Given the description of an element on the screen output the (x, y) to click on. 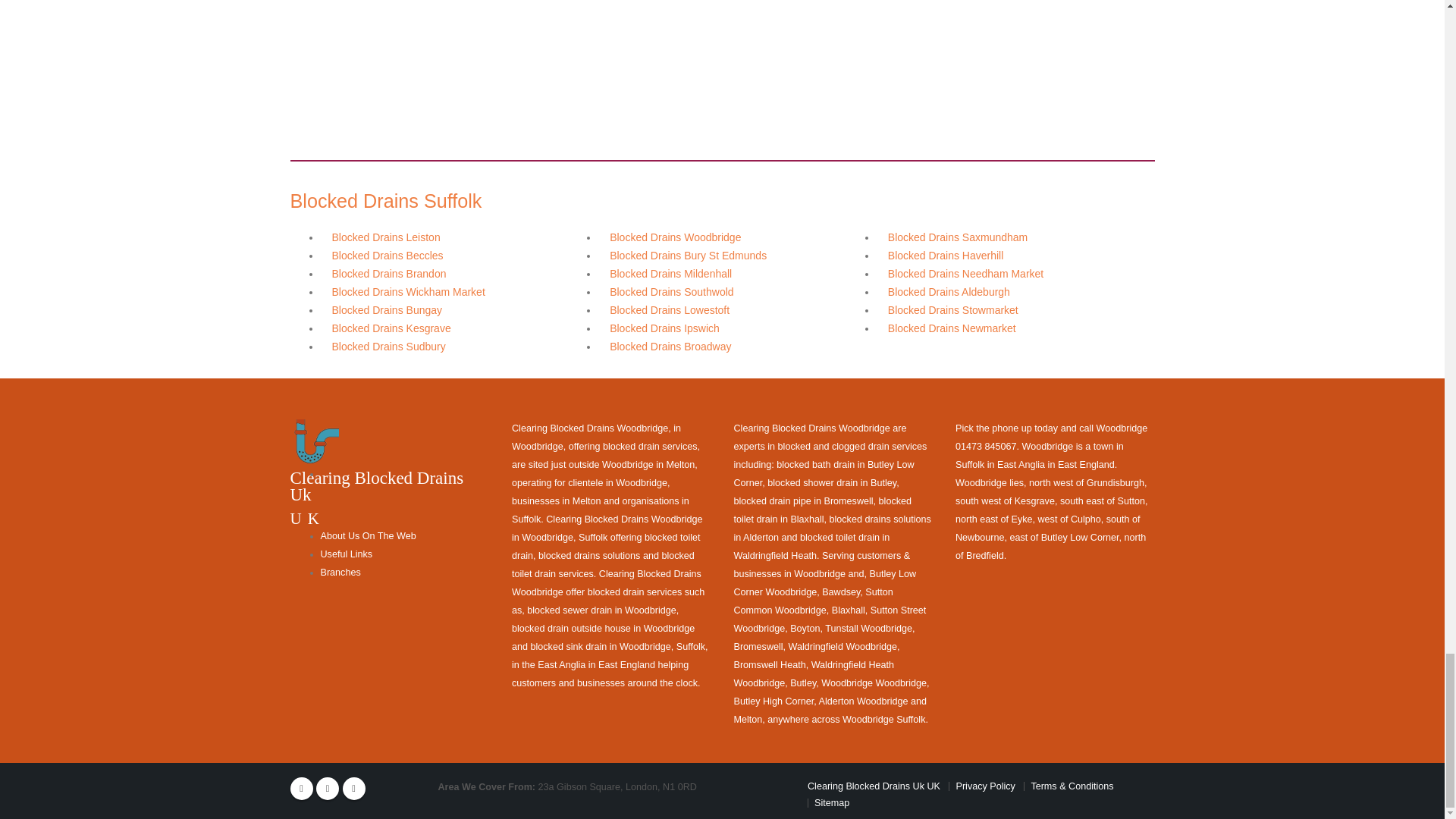
Twitter (327, 788)
Facebook (301, 788)
Linkedin (353, 788)
